Given the description of an element on the screen output the (x, y) to click on. 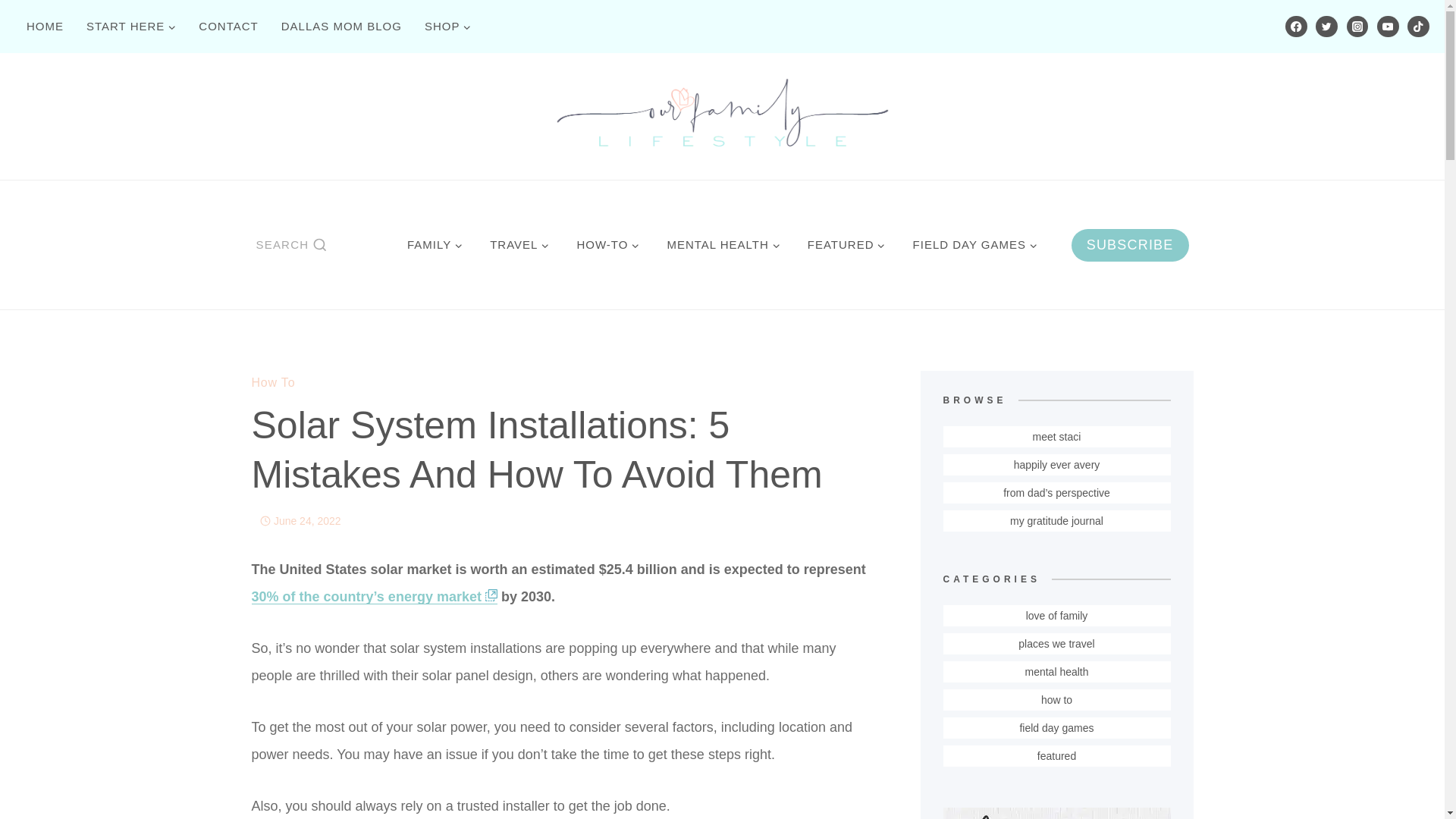
START HERE (131, 26)
CONTACT (228, 26)
TRAVEL (519, 244)
HOW-TO (607, 244)
HOME (44, 26)
FAMILY (434, 244)
DALLAS MOM BLOG (341, 26)
SHOP (448, 26)
SEARCH (291, 244)
